Given the description of an element on the screen output the (x, y) to click on. 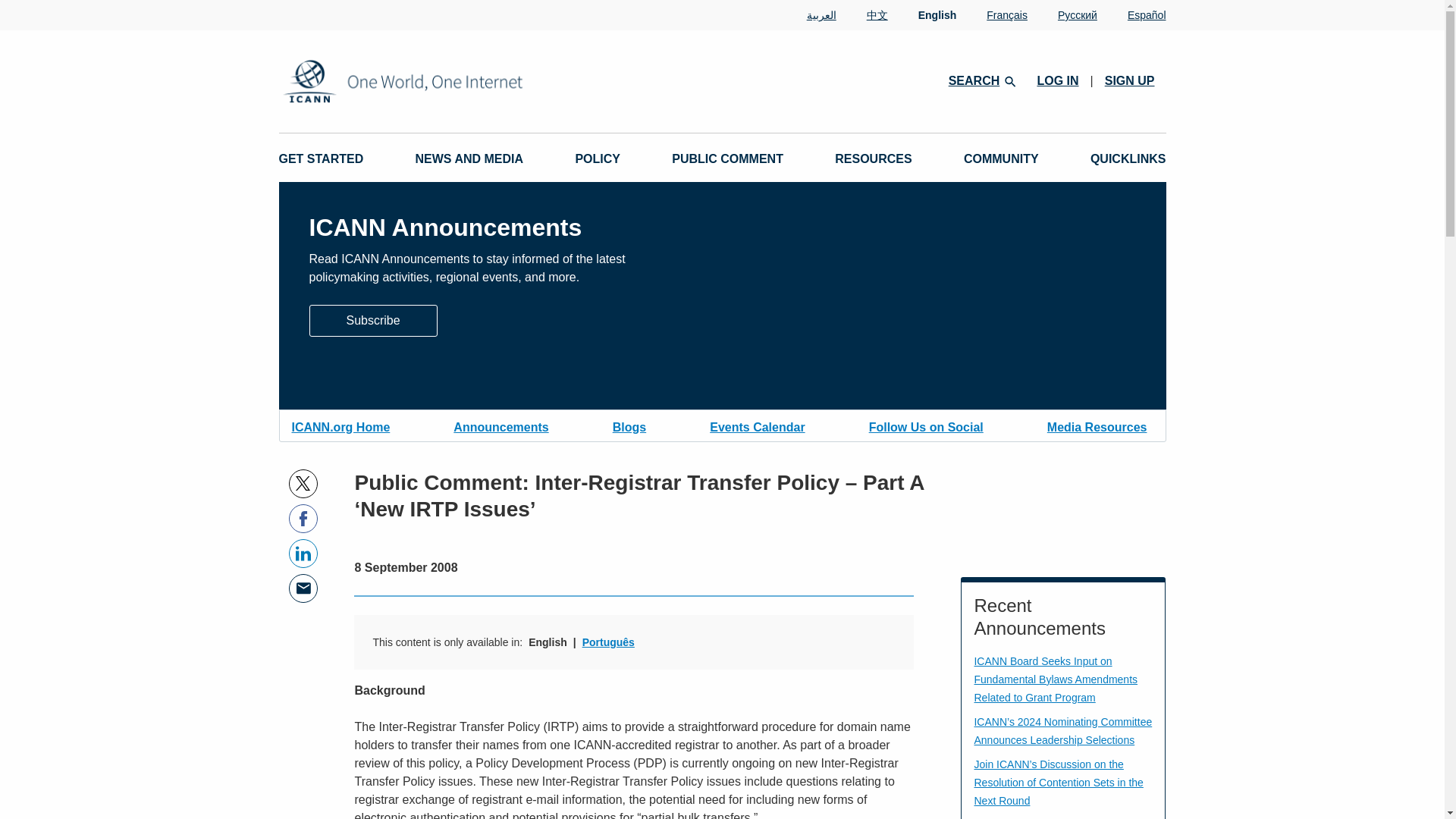
Logo (452, 81)
Subscribe (373, 320)
ICANN.org Home (340, 425)
Blogs (629, 425)
LOG IN (1057, 81)
QUICKLINKS (1128, 158)
COMMUNITY (1001, 158)
Announcements (500, 425)
PUBLIC COMMENT (727, 158)
SEARCH (981, 79)
